Given the description of an element on the screen output the (x, y) to click on. 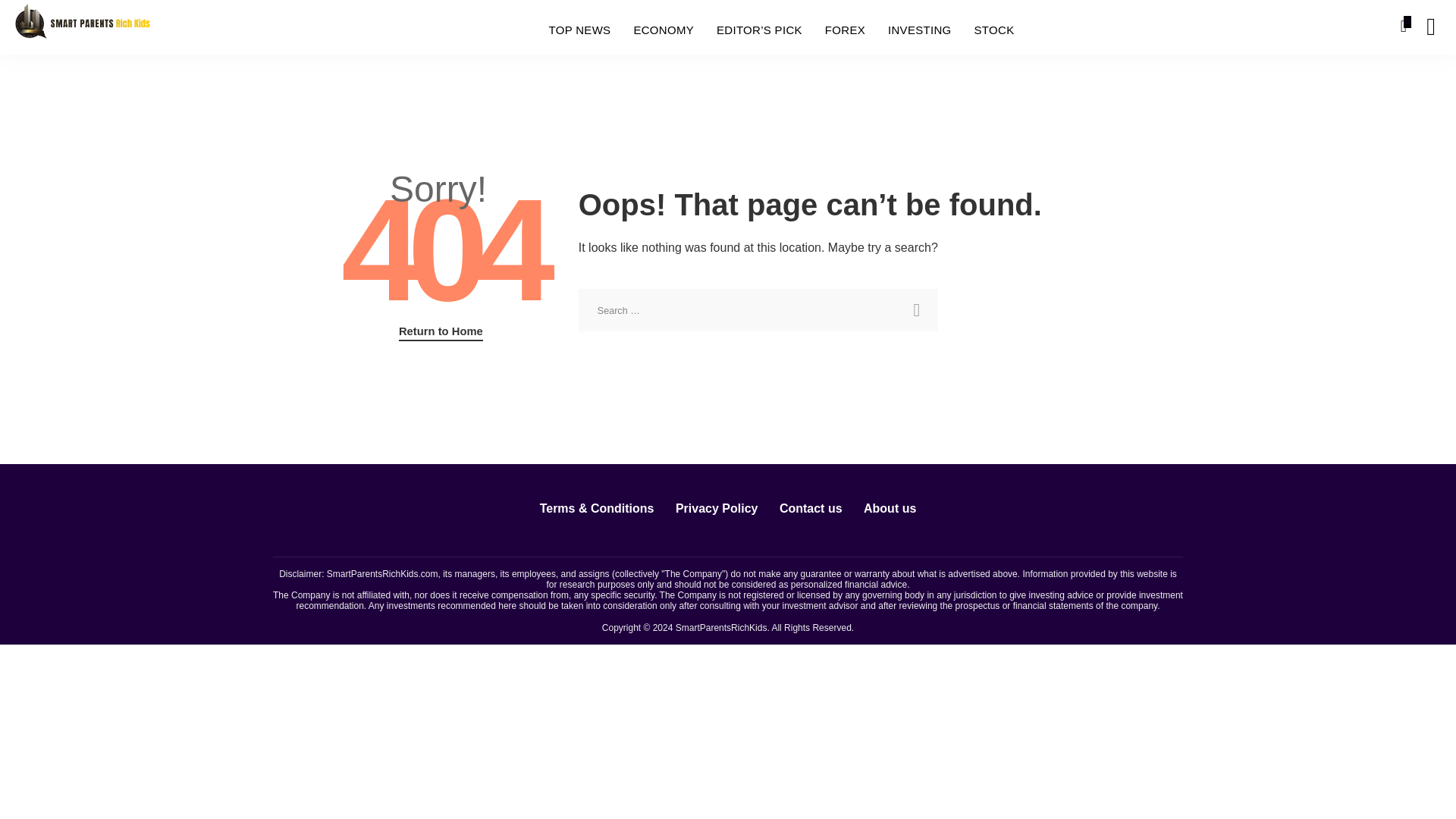
Search (916, 310)
Smart Parents Rich Kids (81, 26)
Search (916, 310)
About us (889, 507)
INVESTING (919, 30)
SmartParentsRichKids.com (382, 573)
TOP NEWS (580, 30)
STOCK (994, 30)
Return to Home (440, 331)
ECONOMY (662, 30)
Contact us (810, 507)
Search (916, 310)
Search (1146, 27)
Search (1419, 84)
Return to Home (440, 331)
